Given the description of an element on the screen output the (x, y) to click on. 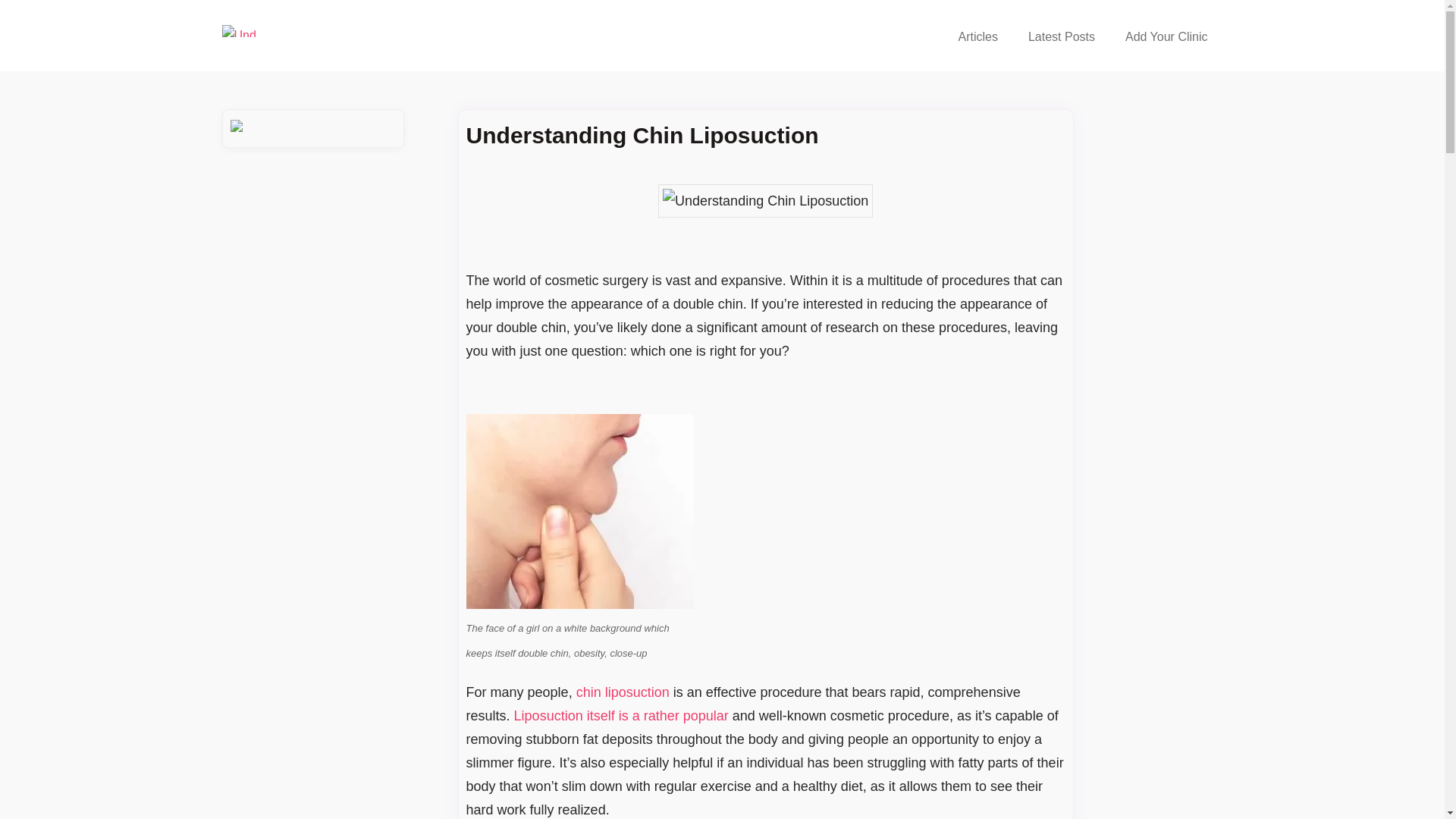
Add Your Clinic (1166, 36)
Latest Posts (1061, 36)
chin liposuction (622, 692)
Understanding Chin Liposuction (765, 200)
Articles (976, 36)
Liposuction itself is a rather popular (621, 715)
